Given the description of an element on the screen output the (x, y) to click on. 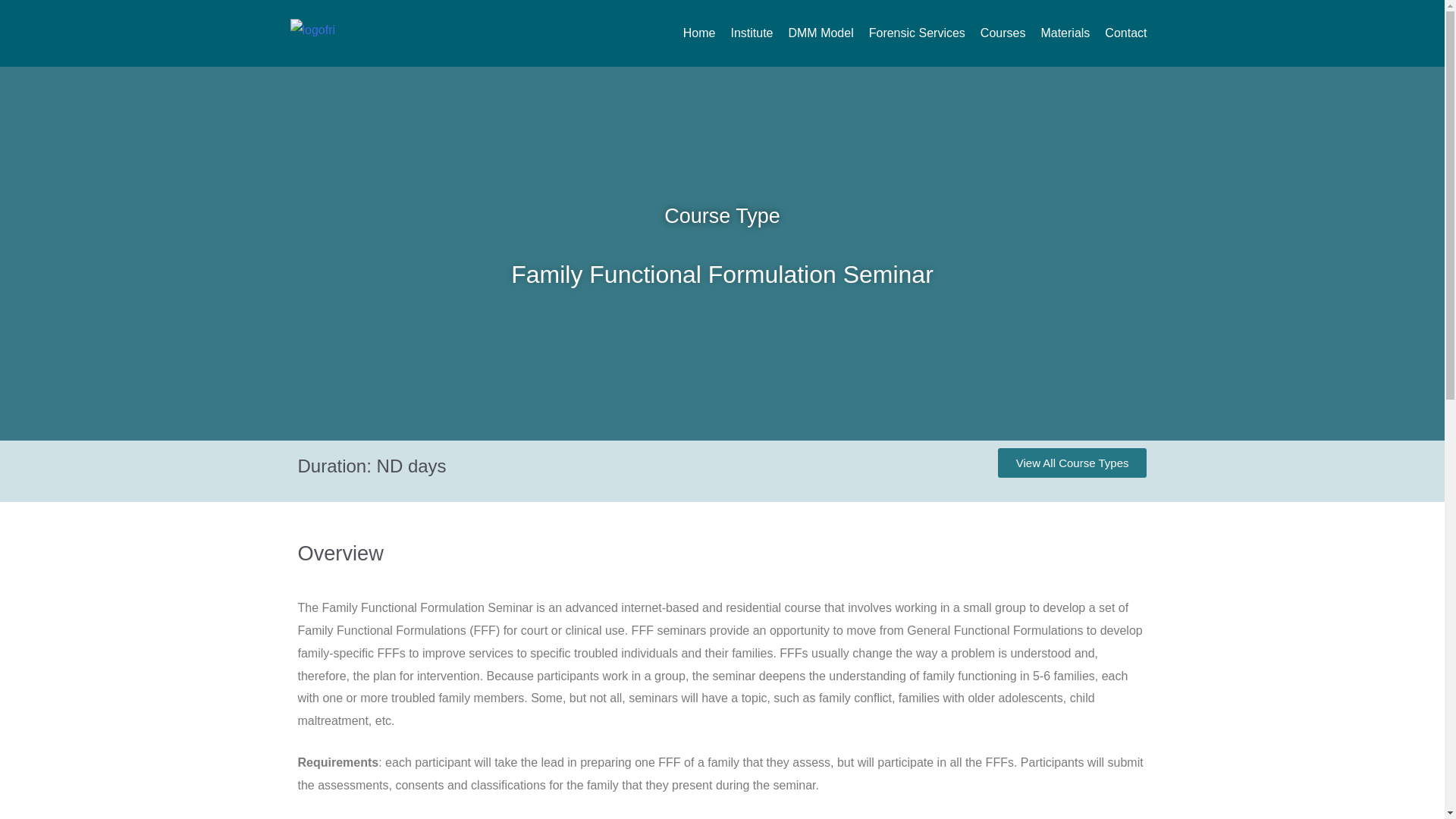
Courses (1002, 33)
Forensic Services (916, 33)
DMM Model (820, 33)
Materials (1064, 33)
View All Course Types (1072, 462)
logofri (353, 29)
